Given the description of an element on the screen output the (x, y) to click on. 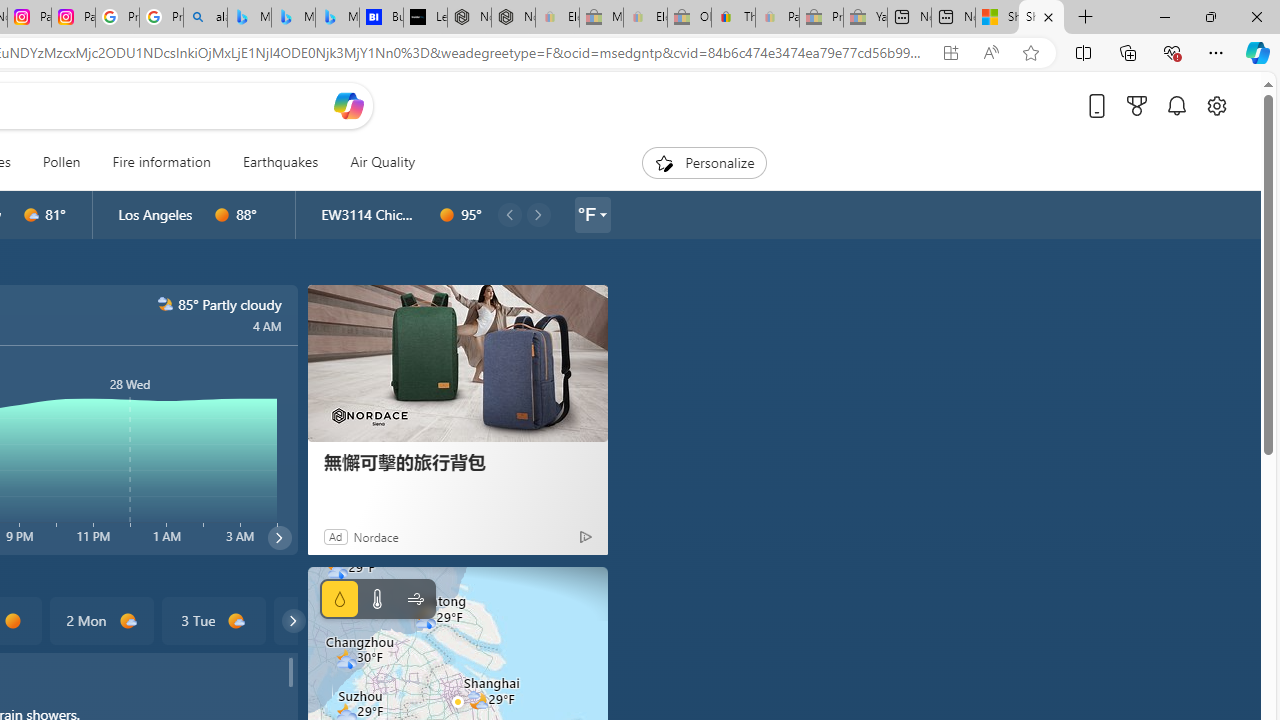
Wind (414, 599)
common/carouselChevron (293, 620)
3 Tue d1000 (213, 620)
4 Wed d1000 (324, 620)
Earthquakes (280, 162)
